Given the description of an element on the screen output the (x, y) to click on. 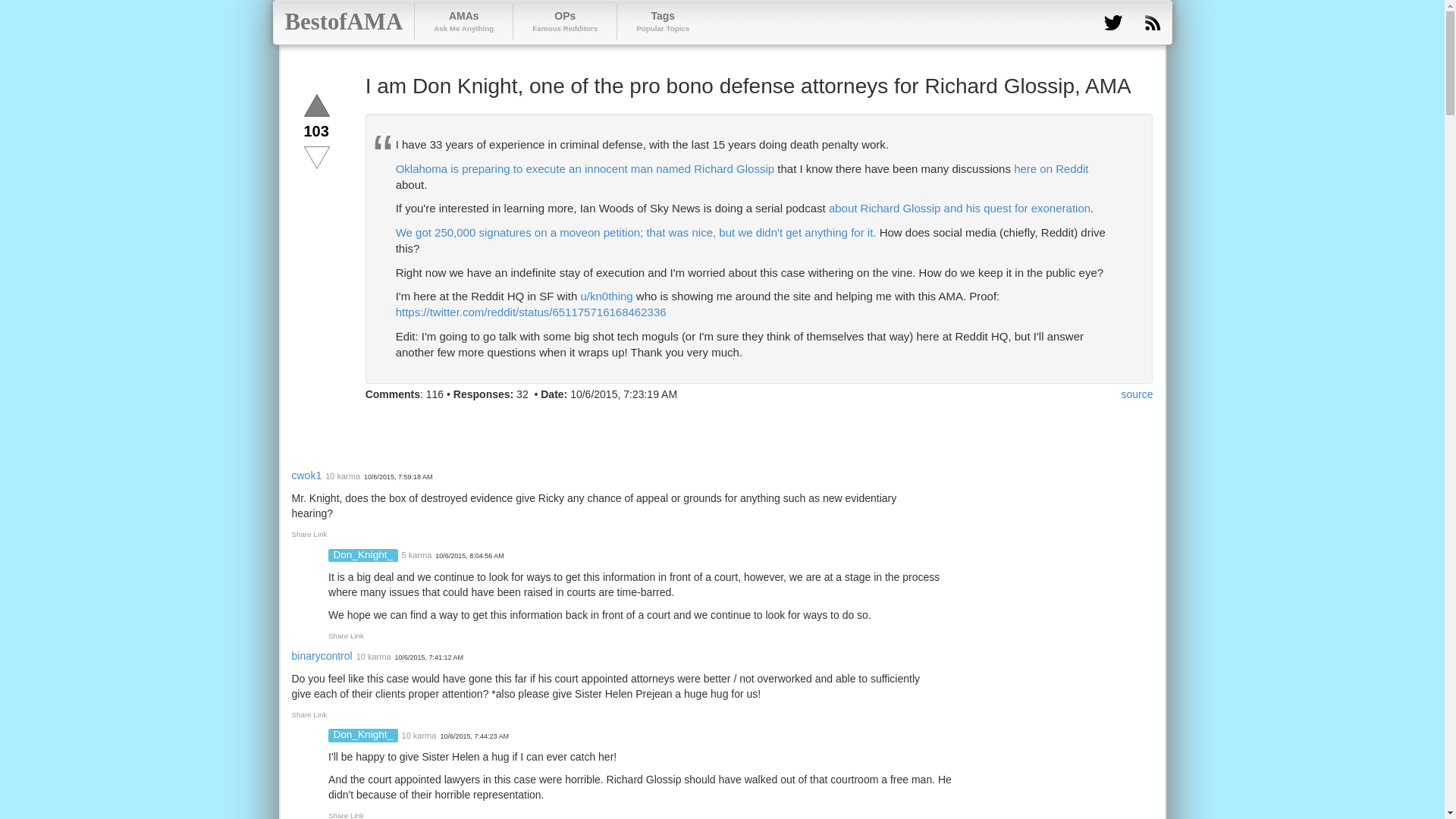
Share this page on stumbleupon (488, 423)
Share this page on digg (515, 423)
Share this page on email (563, 21)
Share Link (542, 423)
Share Link (308, 714)
Share Link (308, 533)
BestofAMA (346, 815)
Share this page on facebook (343, 21)
source (462, 21)
about Richard Glossip and his quest for exoneration (378, 423)
here on Reddit (1137, 394)
Share this page on linkedin (959, 207)
